Given the description of an element on the screen output the (x, y) to click on. 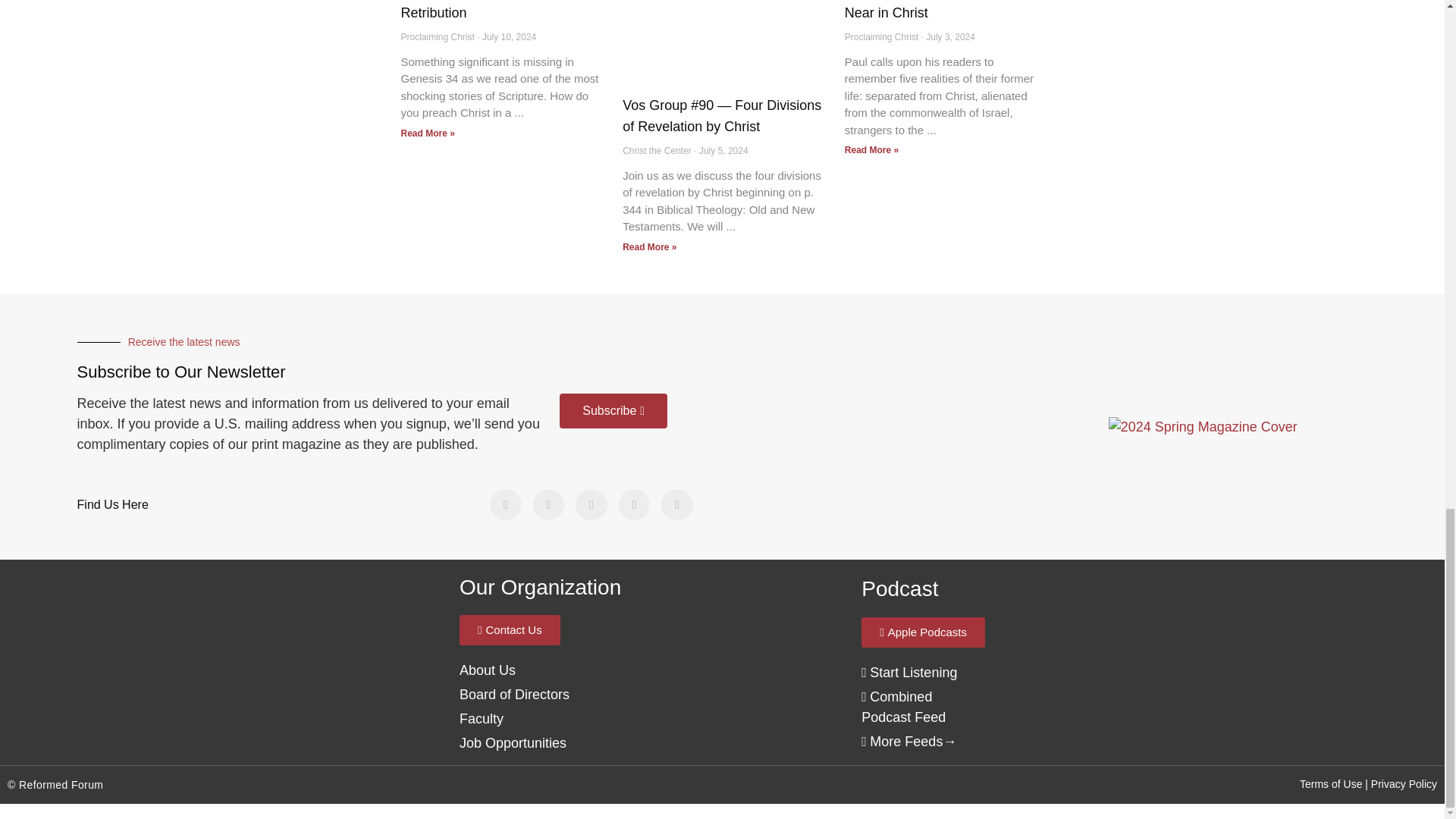
About Us (487, 670)
About Us (514, 694)
Podcast Feed (908, 672)
Faculty (481, 718)
Podcast Feed (902, 706)
More Feeds (901, 741)
2024 Spring Magazine Cover (1202, 426)
